Given the description of an element on the screen output the (x, y) to click on. 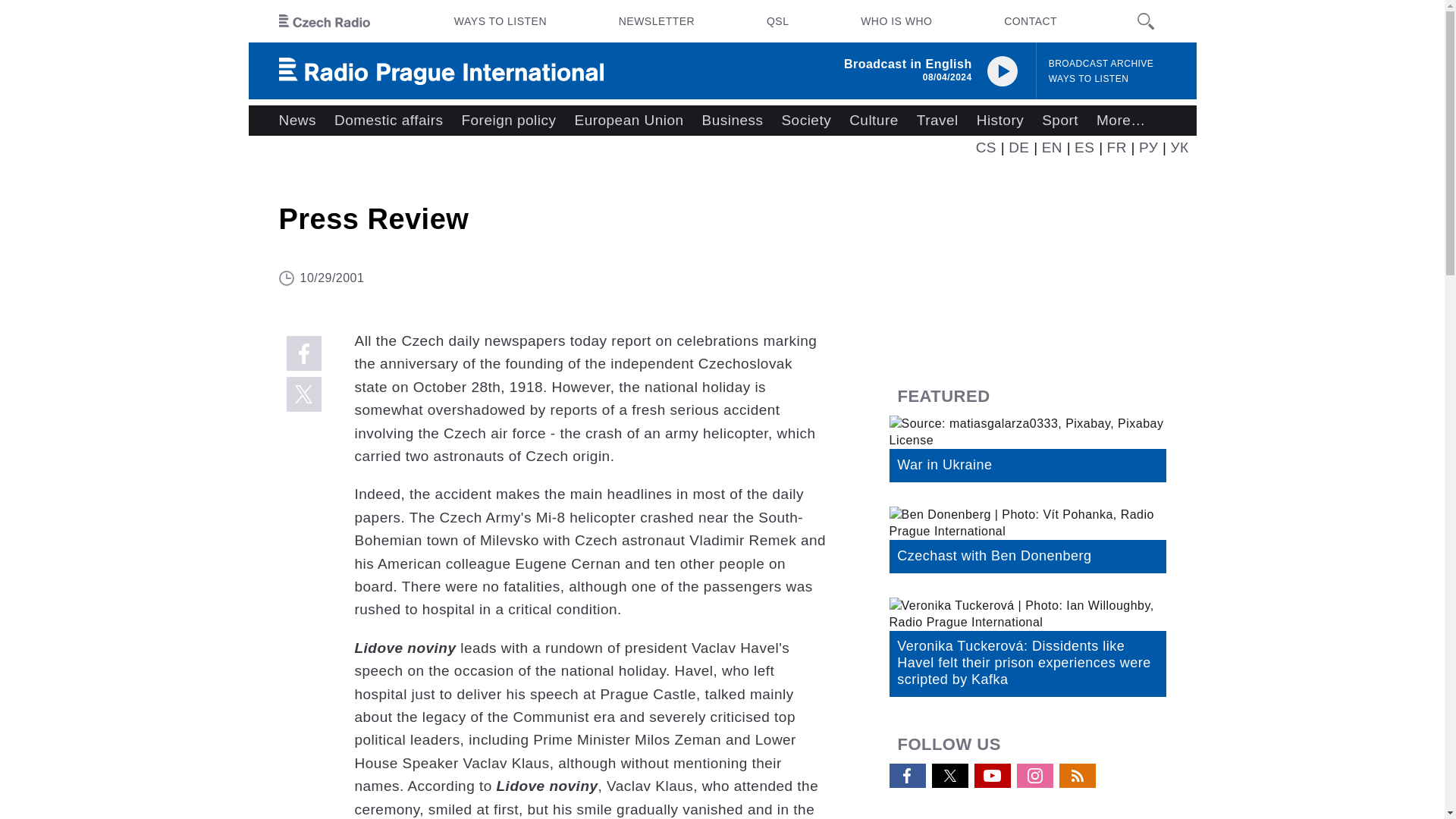
European Union (628, 120)
WHO IS WHO (896, 21)
Broadcast in English  (908, 63)
Society (805, 120)
NEWSLETTER (656, 21)
News (296, 120)
History (1000, 120)
Foreign policy (507, 120)
Sport (1059, 120)
WAYS TO LISTEN (500, 21)
Czech Radio (324, 21)
EN (1052, 147)
QSL (777, 21)
Culture (873, 120)
CONTACT (1029, 21)
